Given the description of an element on the screen output the (x, y) to click on. 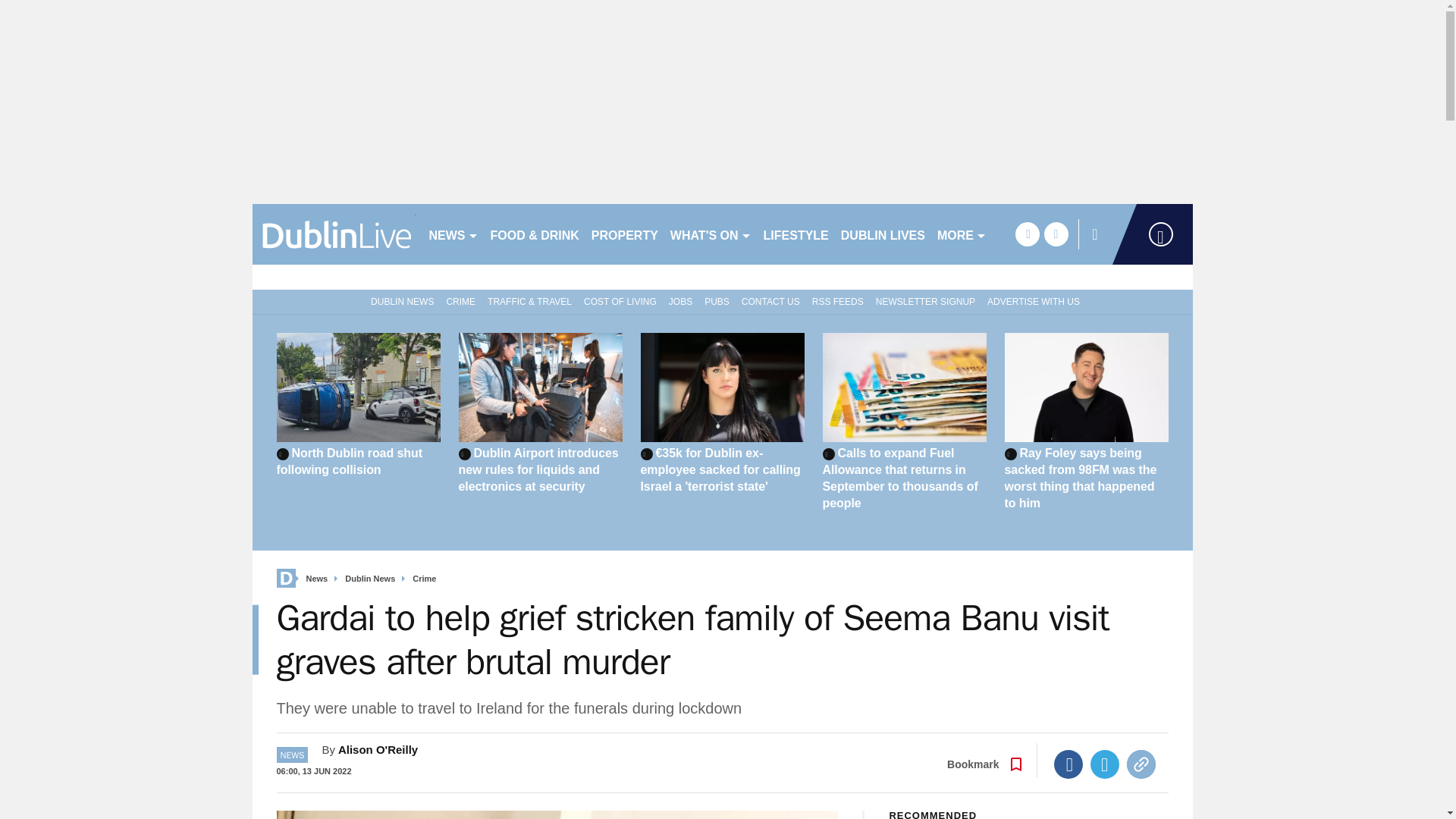
twitter (1055, 233)
MORE (961, 233)
facebook (1026, 233)
Twitter (1104, 764)
DUBLIN LIVES (882, 233)
LIFESTYLE (795, 233)
dublinlive (332, 233)
WHAT'S ON (710, 233)
PROPERTY (624, 233)
NEWS (453, 233)
Facebook (1068, 764)
